Given the description of an element on the screen output the (x, y) to click on. 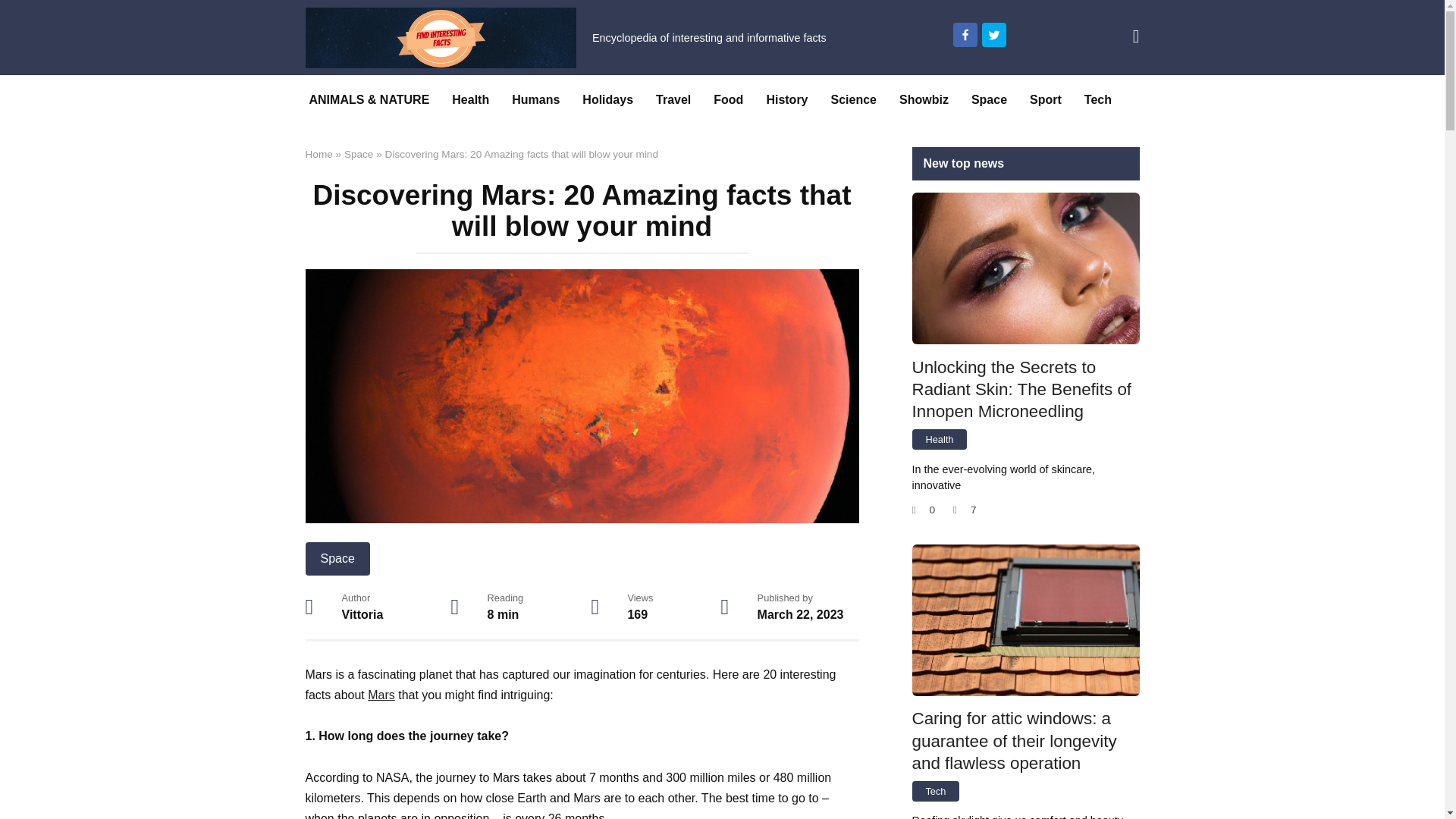
Showbiz (923, 100)
Home (317, 153)
Sport (1045, 100)
Tech (1097, 100)
Space (336, 558)
Humans (535, 100)
Mars (381, 694)
Science (853, 100)
Food (727, 100)
Holidays (607, 100)
History (786, 100)
Space (988, 100)
Travel (673, 100)
Space (358, 153)
Health (470, 100)
